Given the description of an element on the screen output the (x, y) to click on. 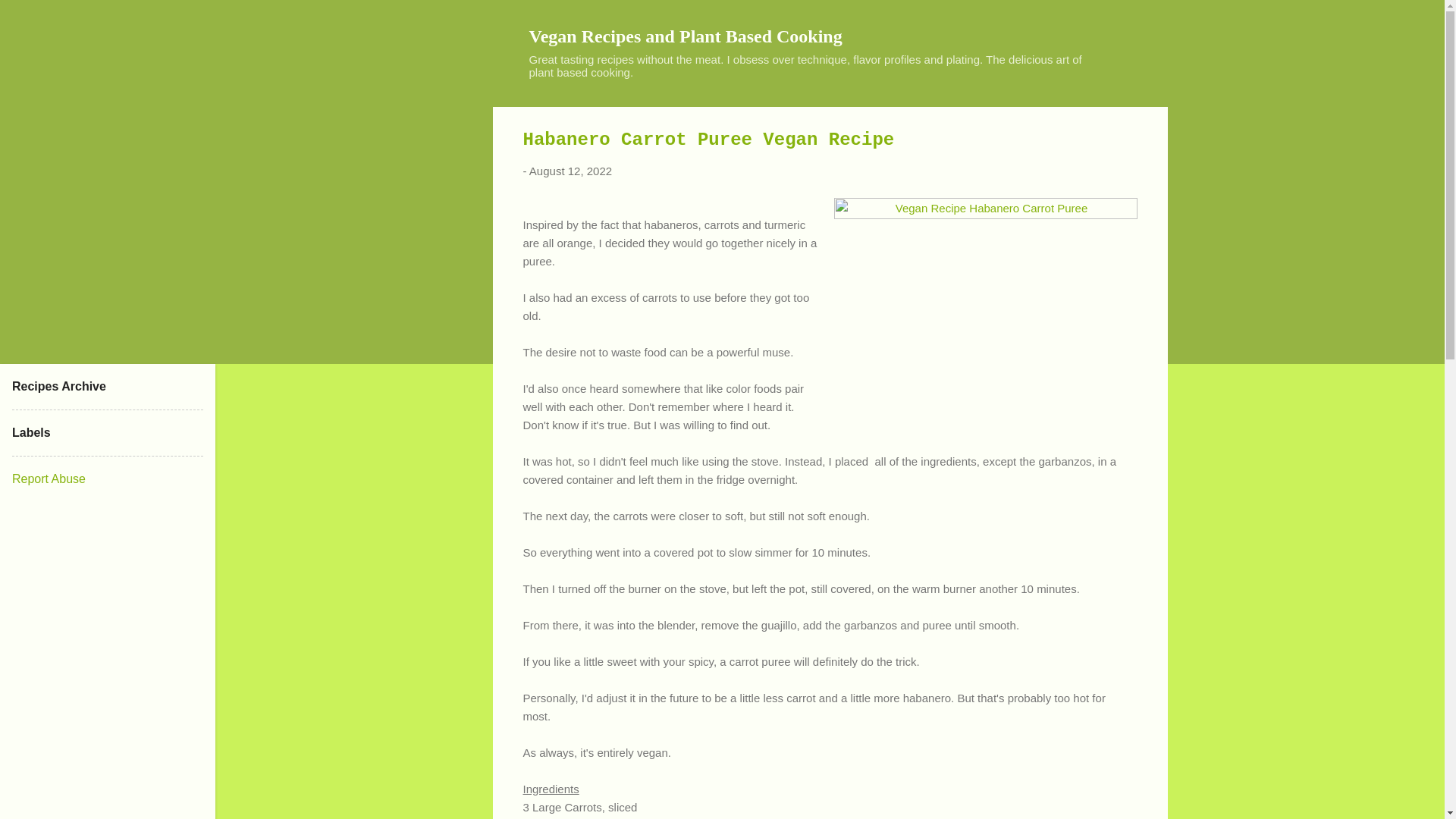
Search (29, 18)
August 12, 2022 (570, 170)
permanent link (570, 170)
Vegan Recipes and Plant Based Cooking (686, 35)
Vegan Recipe Habanero Carrot Puree (985, 311)
